Given the description of an element on the screen output the (x, y) to click on. 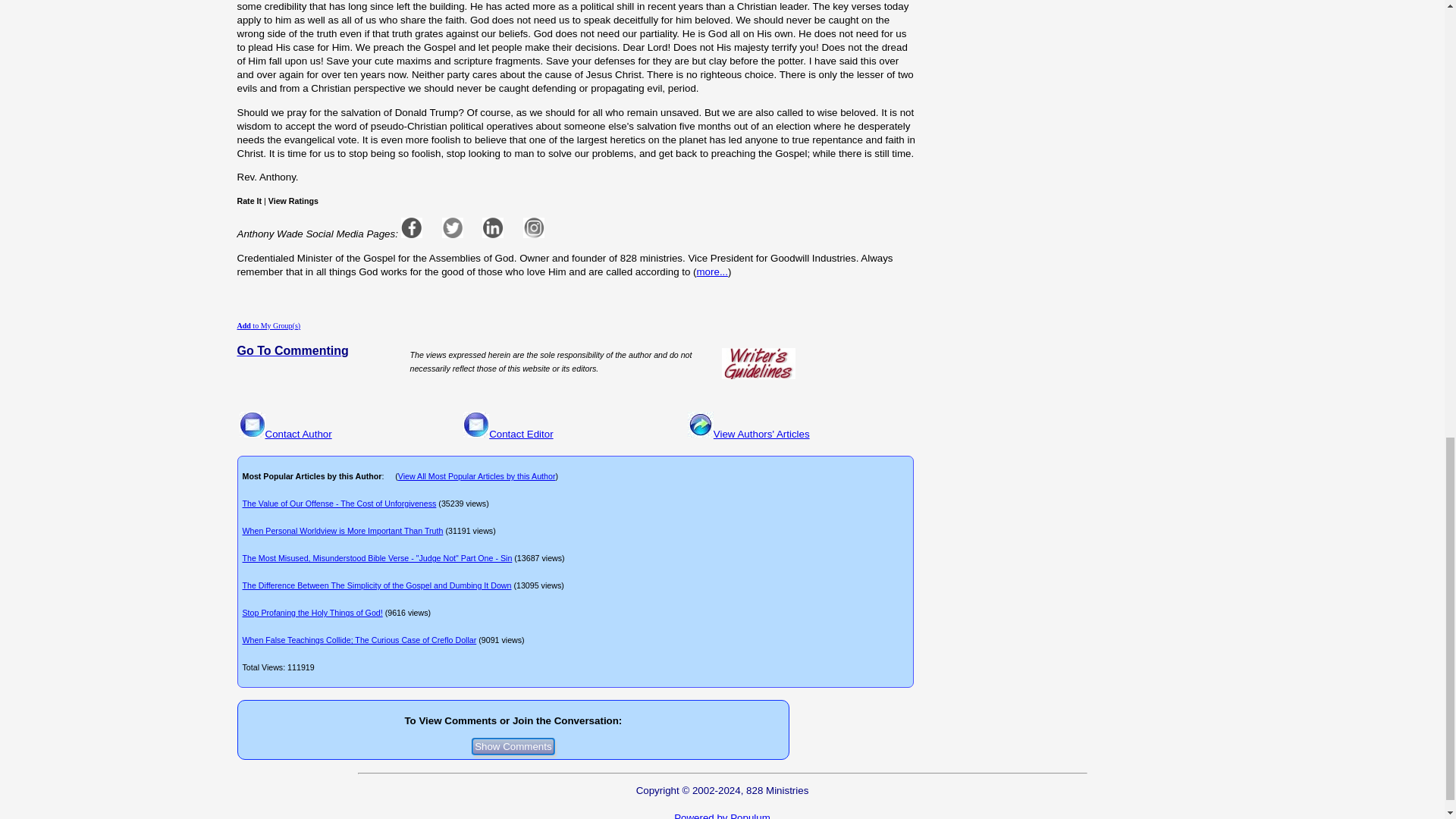
The Value of Our Offense - The Cost of Unforgiveness (339, 502)
When Personal Worldview is More Important Than Truth (343, 530)
Show Comments (512, 746)
Twitter page url on login Profile not filled in (452, 227)
Facebook page url on login Profile not filled in (411, 227)
Rate It (248, 200)
Stop Profaning the Holy Things of God! (312, 612)
Linkedin page url on login Profile not filled in (492, 227)
Go To Commenting (291, 351)
View Authors' Articles (761, 433)
Show Comments (512, 746)
Instagram page url on login Profile not filled in (533, 227)
Contact Author (297, 433)
